Given the description of an element on the screen output the (x, y) to click on. 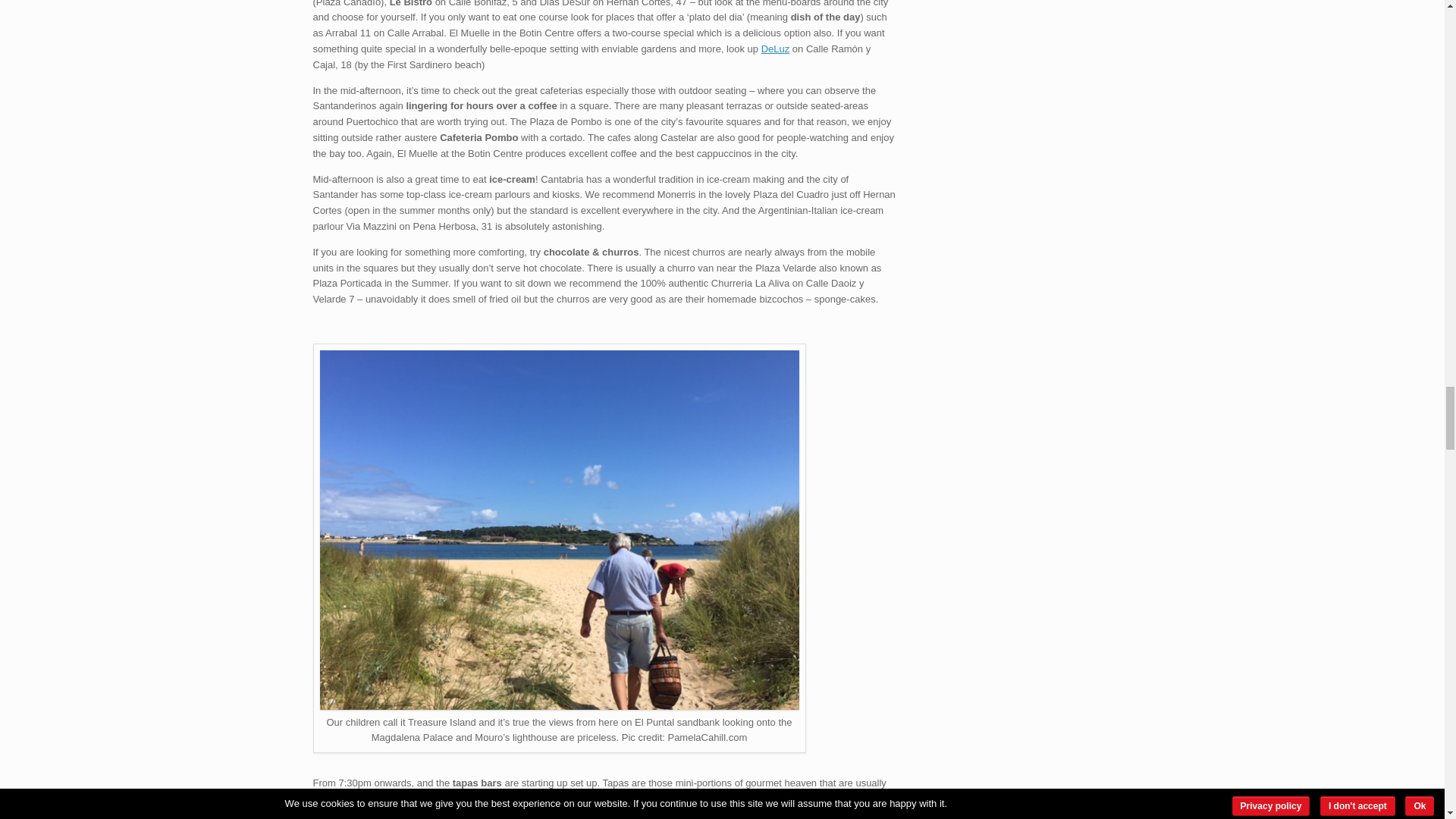
DeLuz (775, 48)
Santander City (559, 706)
